Given the description of an element on the screen output the (x, y) to click on. 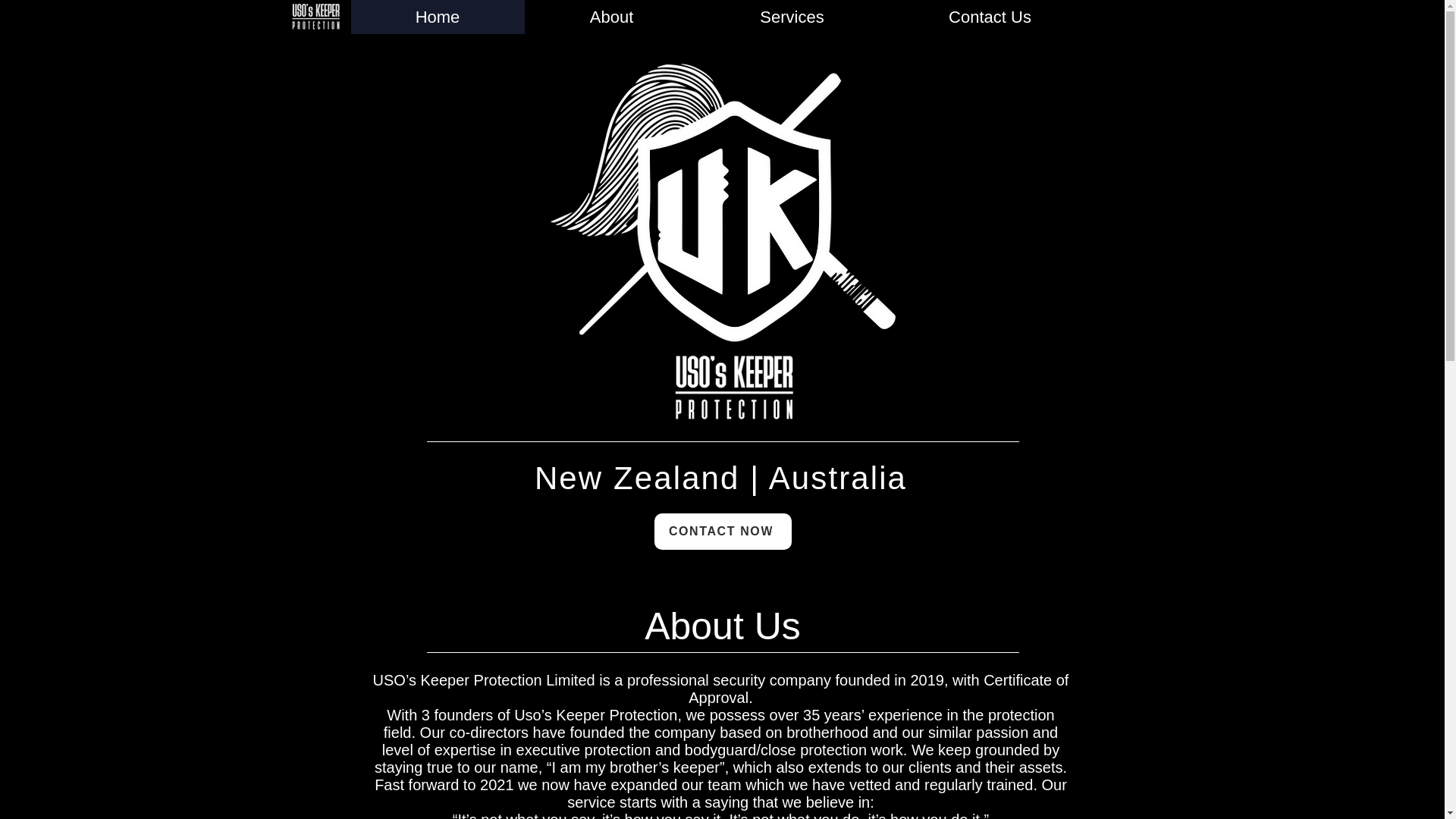
Contact Us (989, 17)
About (611, 17)
Home (437, 17)
CONTACT NOW (721, 531)
Services (791, 17)
